Given the description of an element on the screen output the (x, y) to click on. 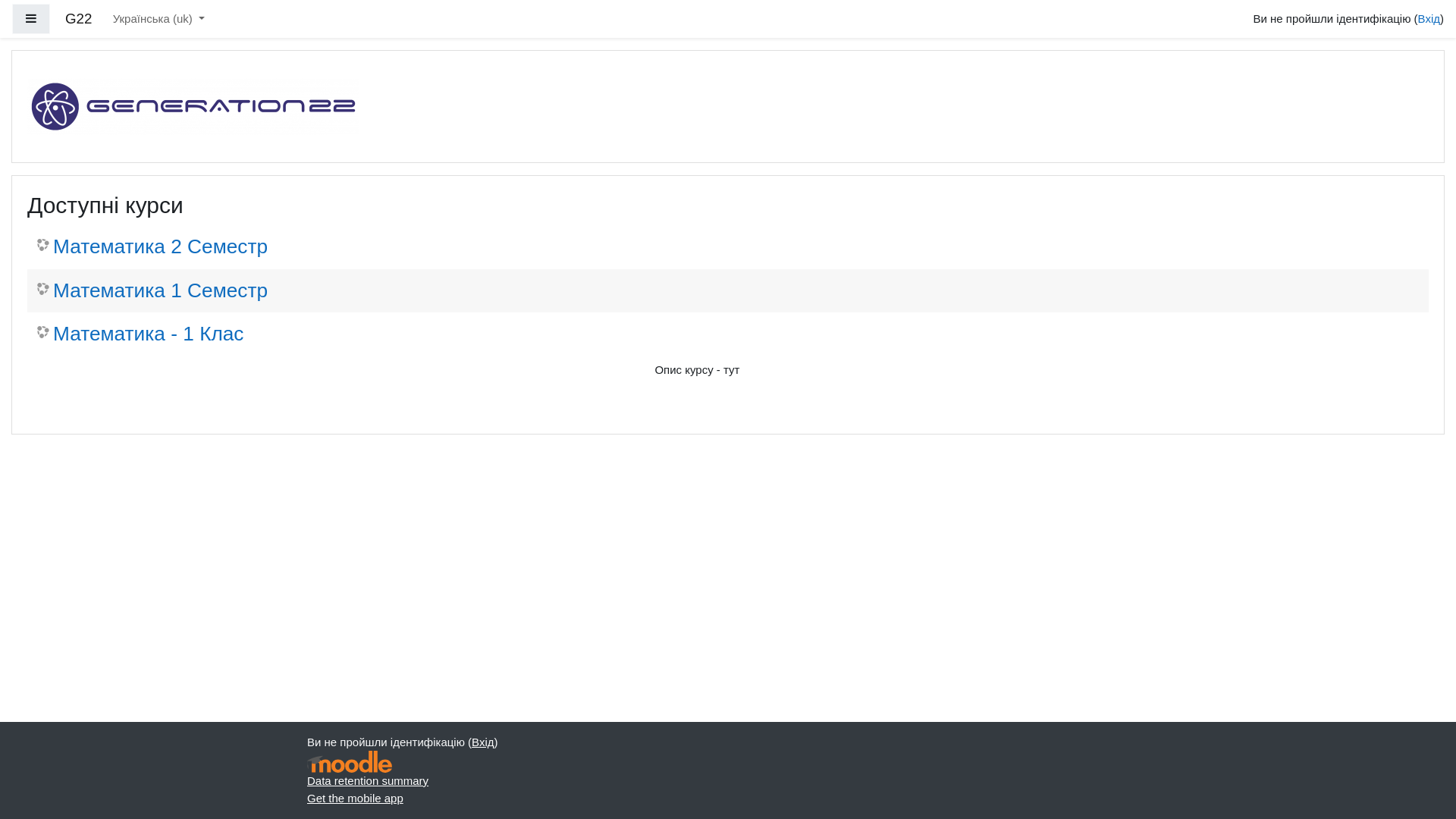
Moodle Element type: hover (349, 761)
Get the mobile app Element type: text (355, 797)
Data retention summary Element type: text (367, 780)
G22 Element type: text (78, 19)
